Given the description of an element on the screen output the (x, y) to click on. 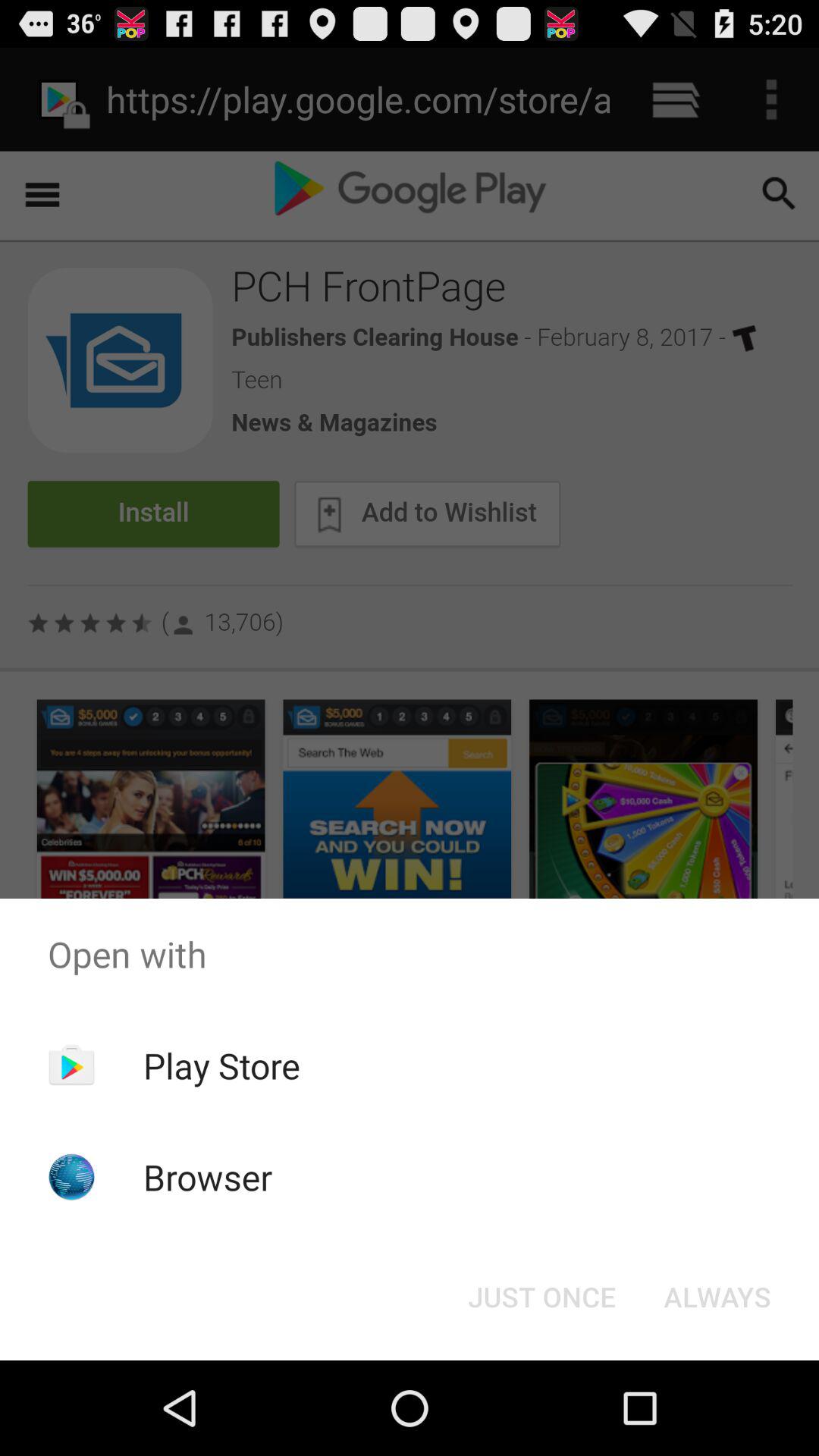
open the item above browser icon (221, 1065)
